Given the description of an element on the screen output the (x, y) to click on. 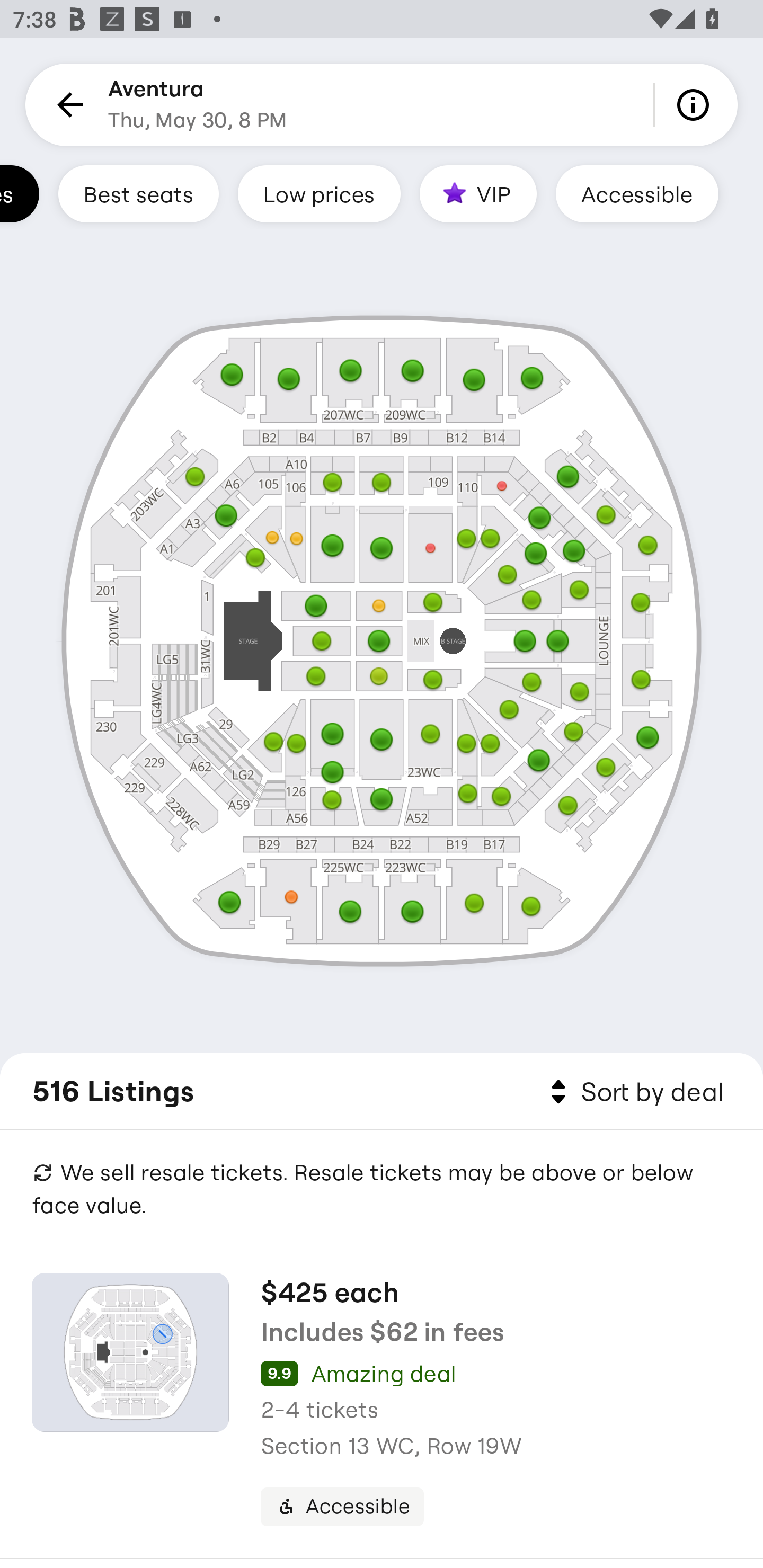
Back (66, 104)
Aventura Thu, May 30, 8 PM (197, 104)
Info (695, 104)
Best seats (137, 193)
Low prices (319, 193)
VIP (477, 193)
Accessible (636, 193)
Sort by deal (633, 1091)
